Given the description of an element on the screen output the (x, y) to click on. 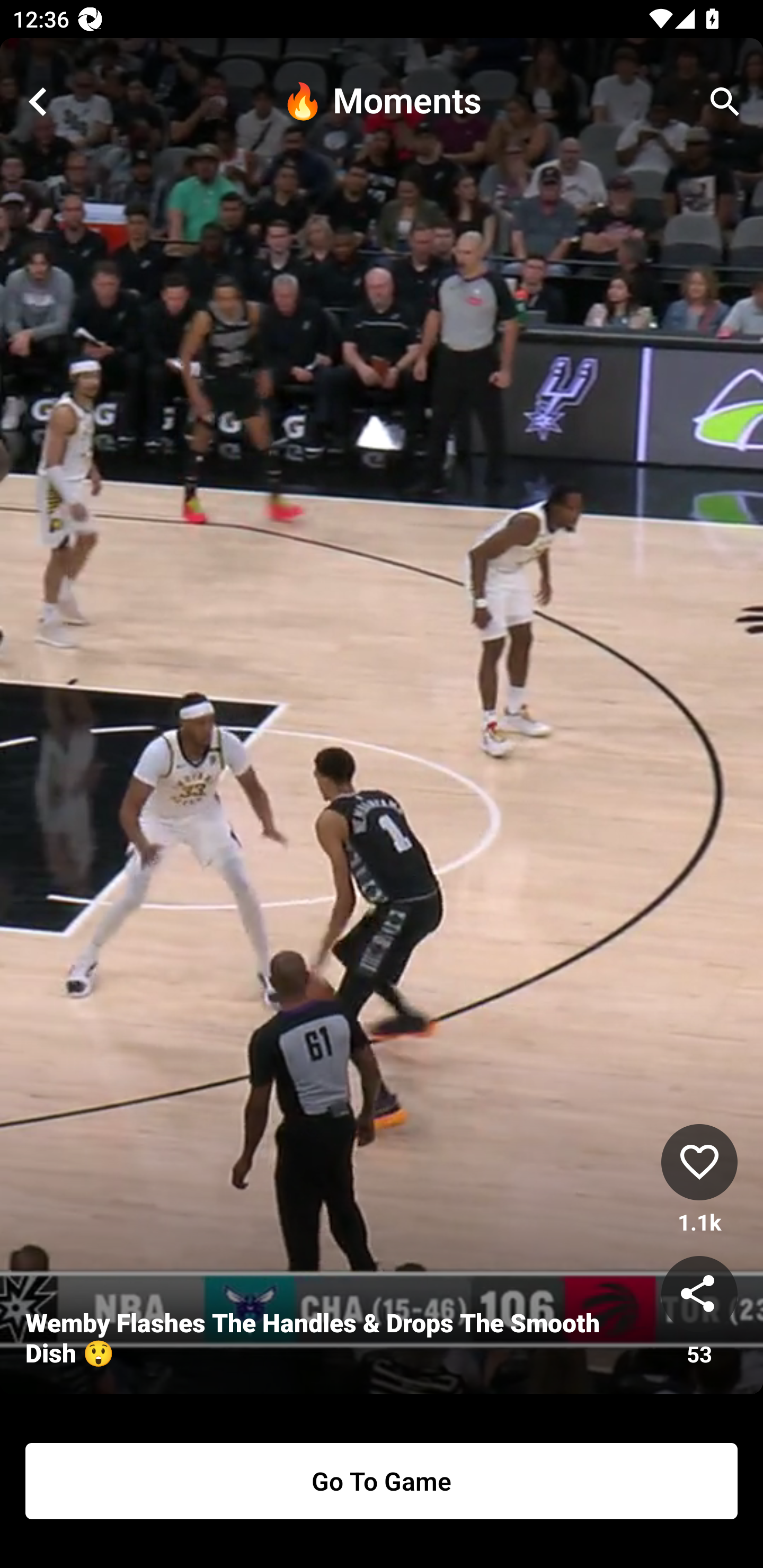
close (38, 101)
search (724, 101)
like 1.1k 1074 Likes (699, 1180)
share 53 53 Shares (699, 1311)
Go To Game (381, 1480)
